Given the description of an element on the screen output the (x, y) to click on. 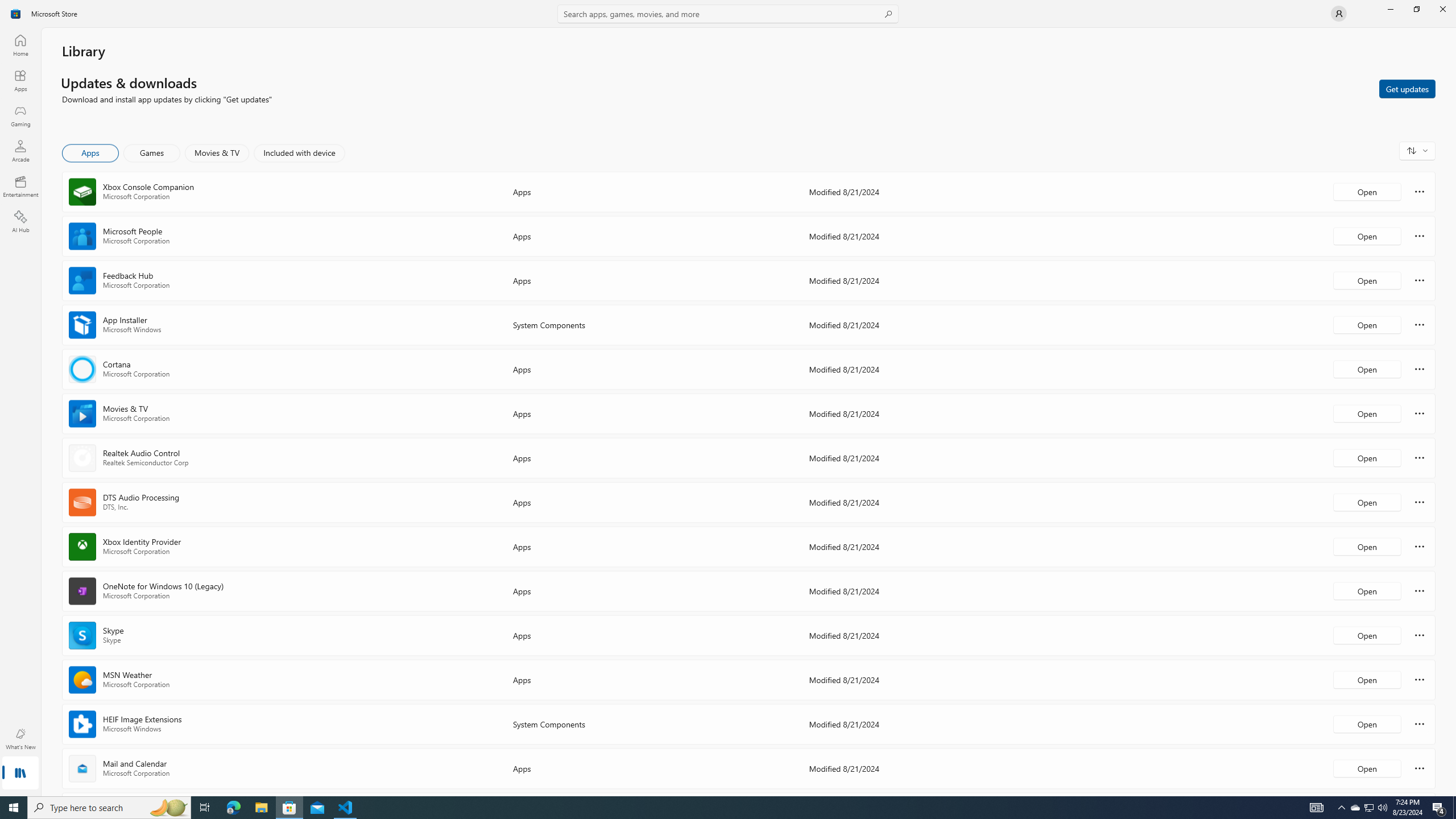
AutomationID: NavigationControl (728, 398)
More options (1419, 768)
Get updates (1406, 88)
Included with device (299, 153)
Sort and filter (1417, 149)
Games (151, 153)
